Given the description of an element on the screen output the (x, y) to click on. 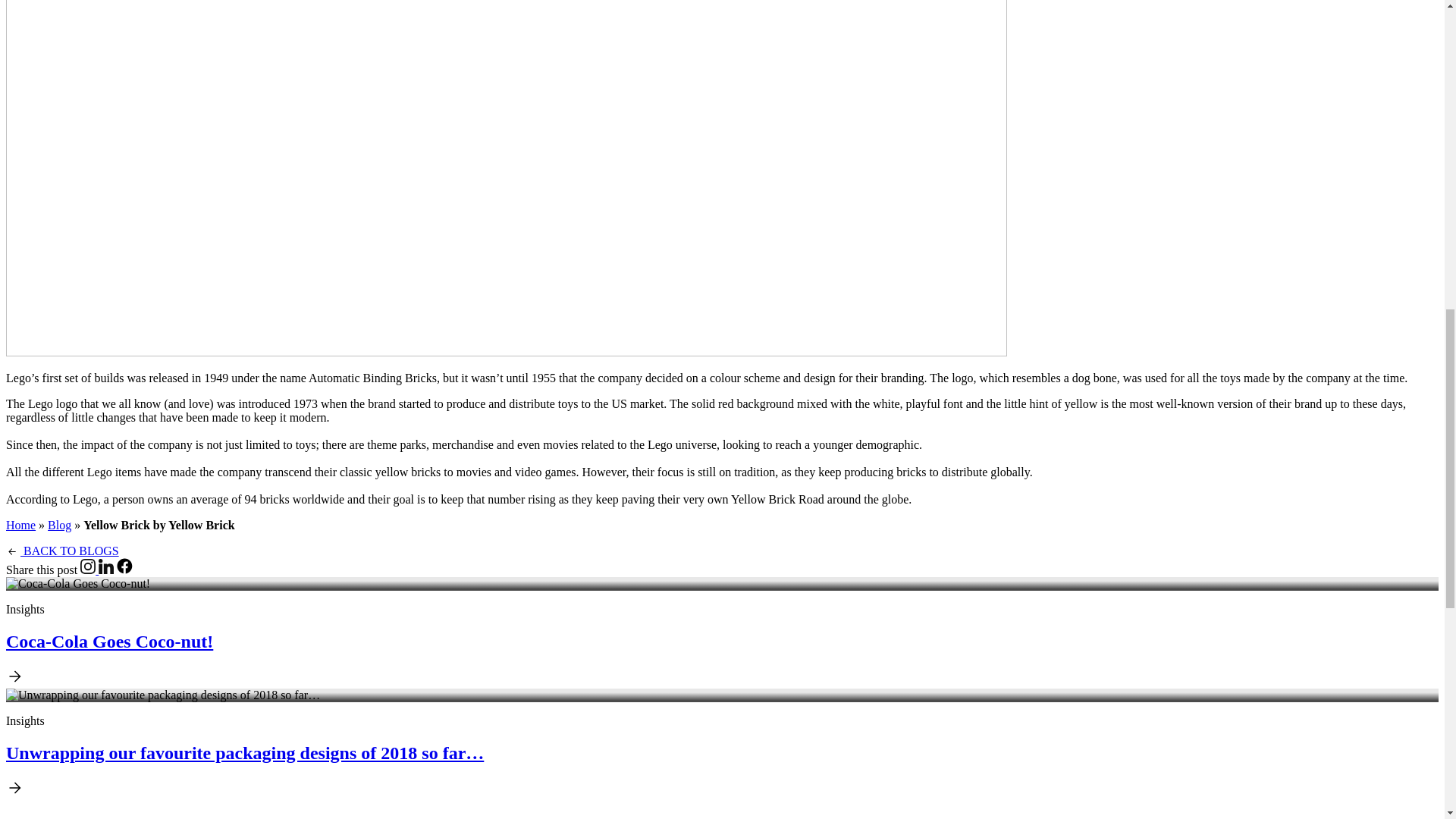
creative partner (178, 816)
Home (19, 524)
Coca-Cola Goes Coco-nut! (77, 583)
Blog (59, 524)
BACK TO BLOGS (62, 550)
